Given the description of an element on the screen output the (x, y) to click on. 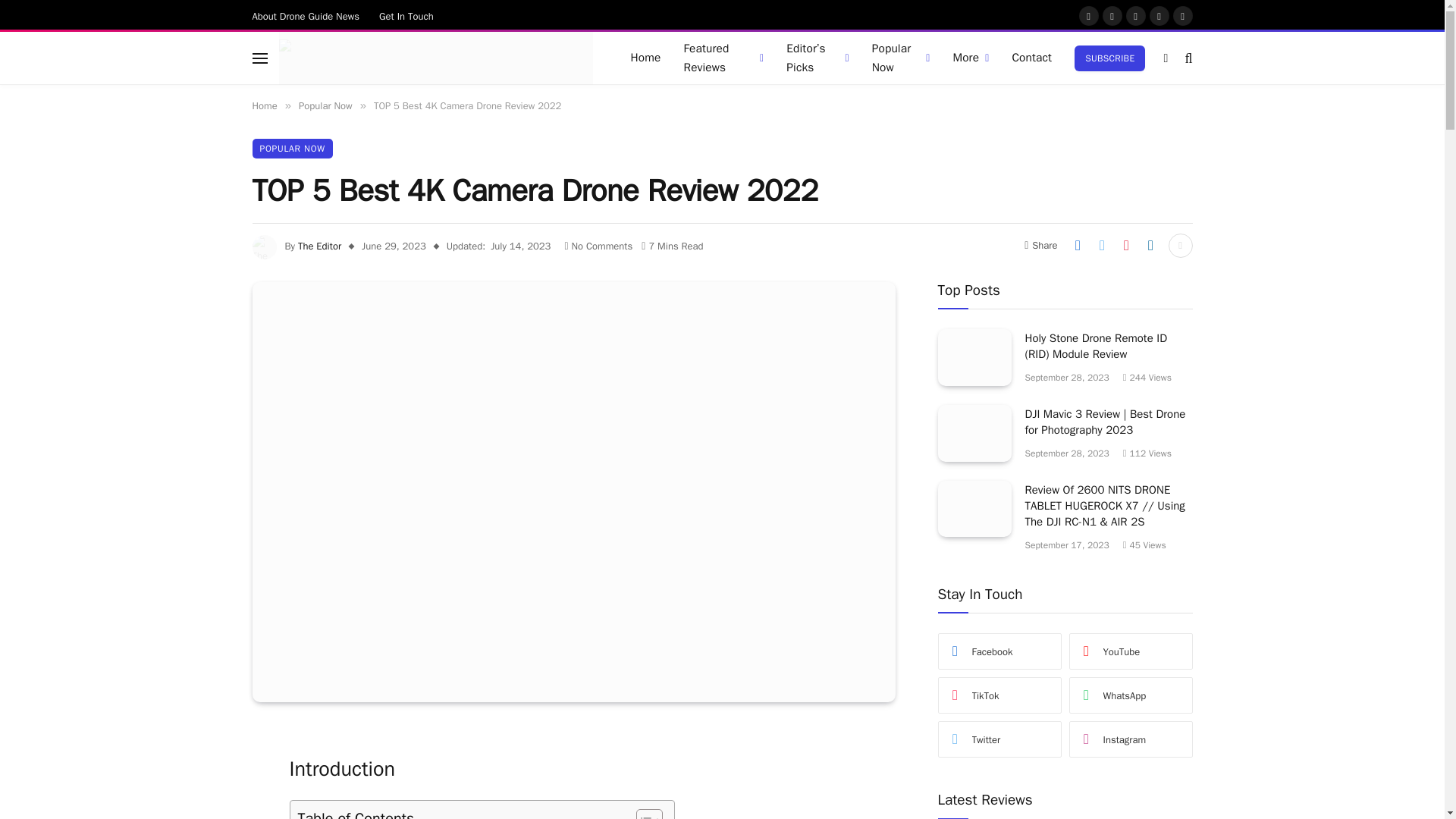
Droneguide News (435, 58)
Facebook (1088, 15)
Featured Reviews (722, 57)
Pinterest (1159, 15)
About Drone Guide News (306, 15)
Get In Touch (406, 15)
Twitter (1112, 15)
Vimeo (1182, 15)
Instagram (1135, 15)
Home (644, 57)
